Given the description of an element on the screen output the (x, y) to click on. 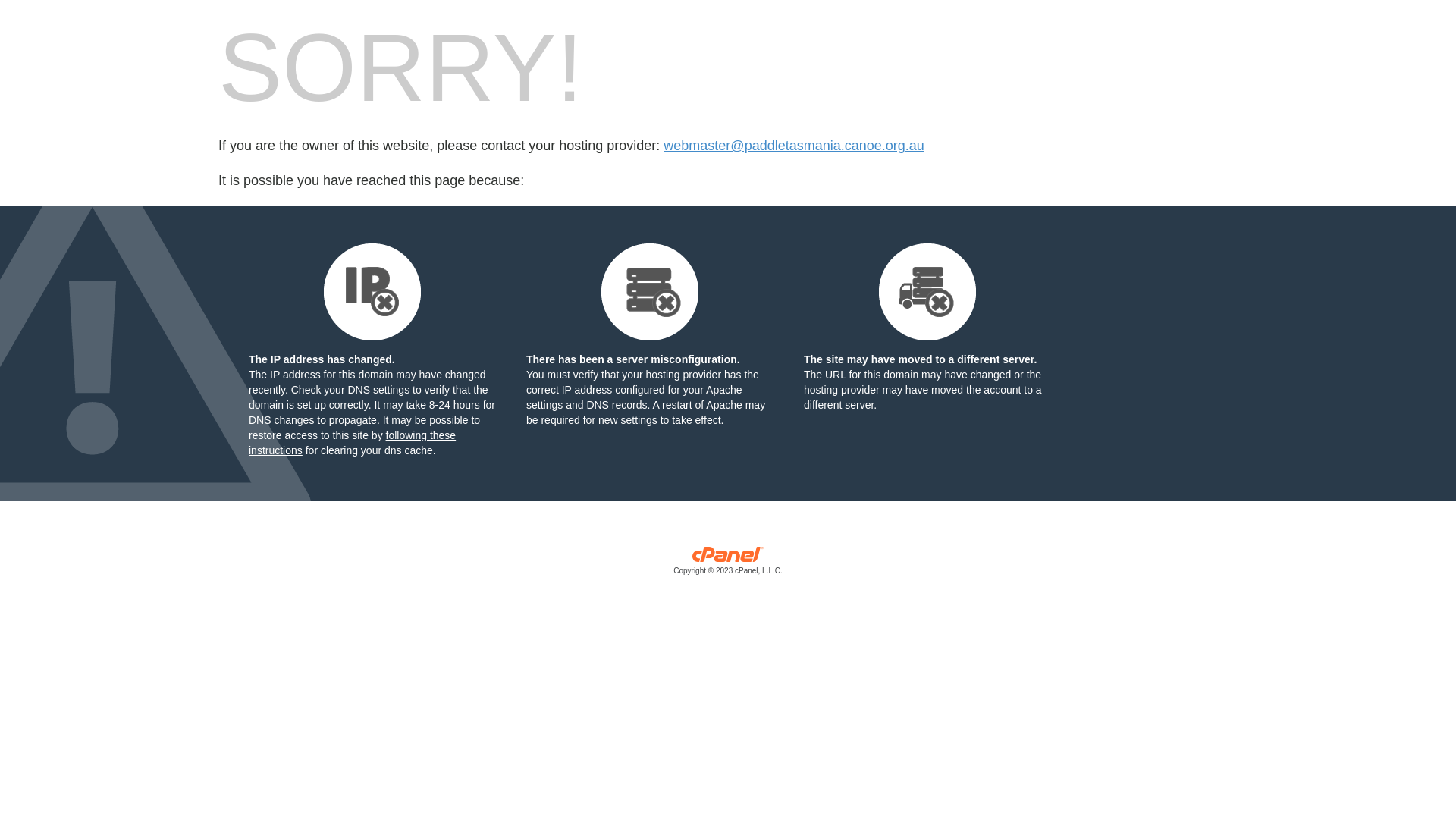
webmaster@paddletasmania.canoe.org.au Element type: text (793, 145)
following these instructions Element type: text (351, 442)
